Given the description of an element on the screen output the (x, y) to click on. 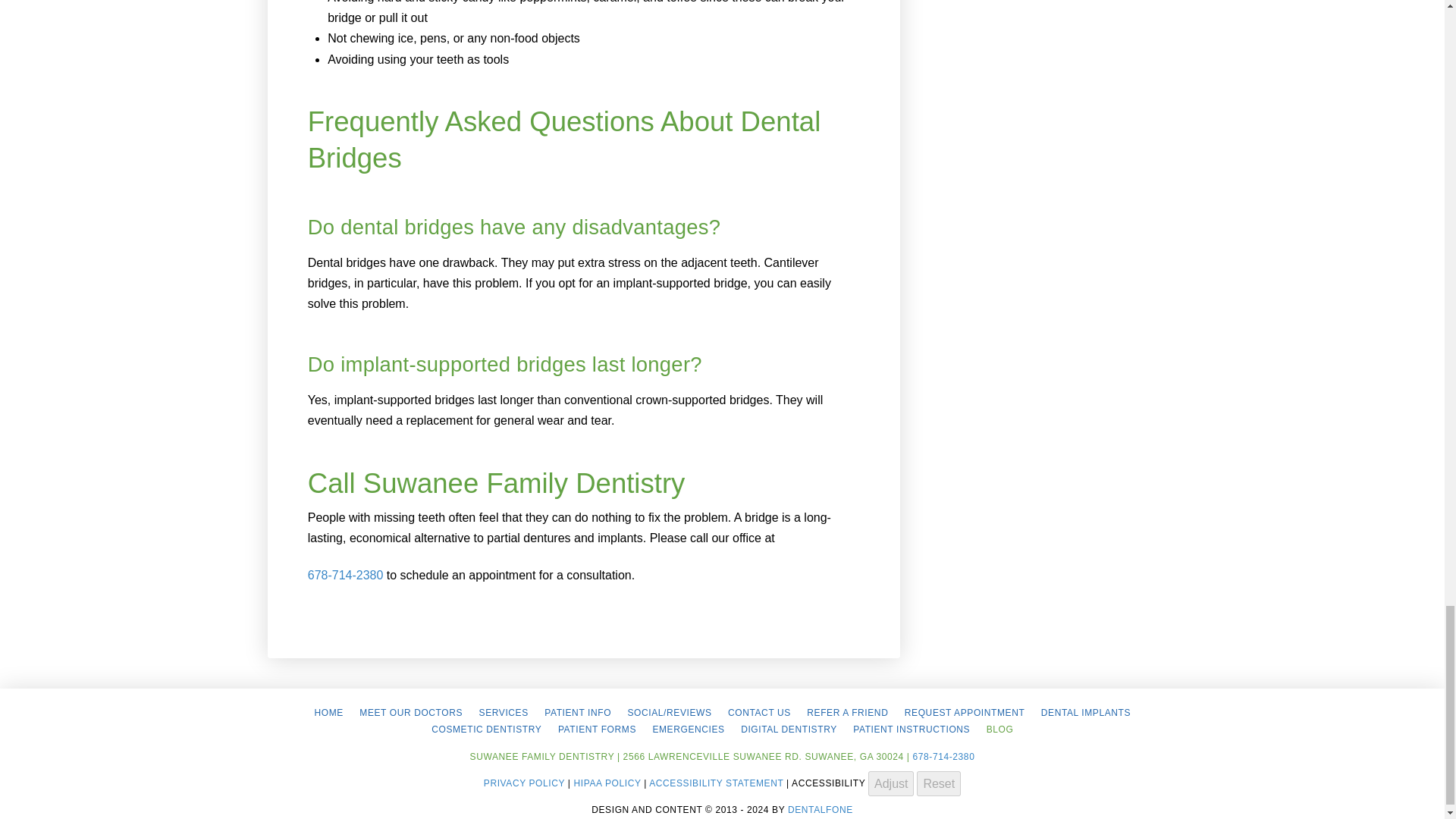
Phone Number (943, 756)
Contact Our Office (758, 712)
Phone Number (345, 574)
